Given the description of an element on the screen output the (x, y) to click on. 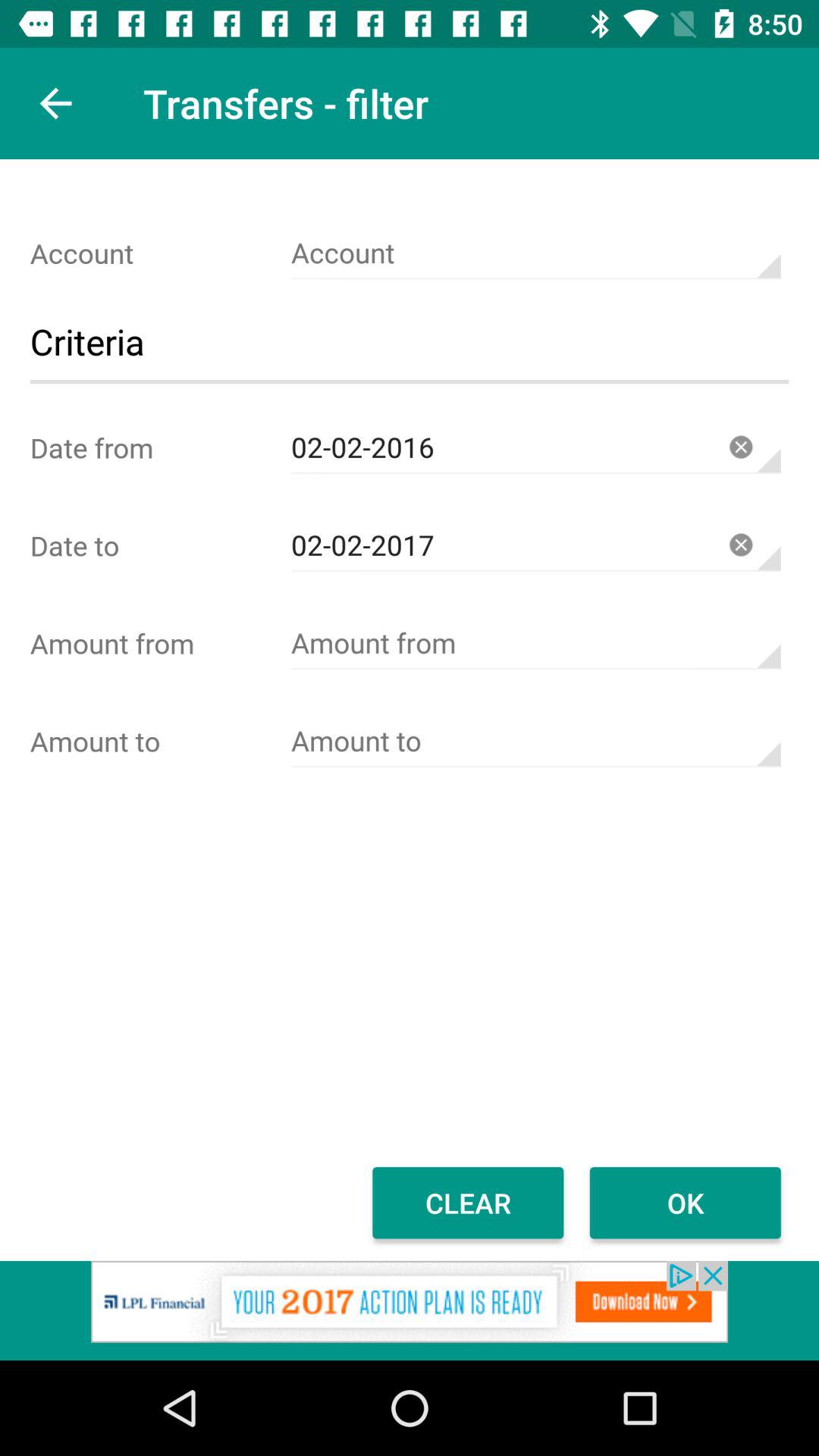
enter name of the receiver (535, 741)
